Given the description of an element on the screen output the (x, y) to click on. 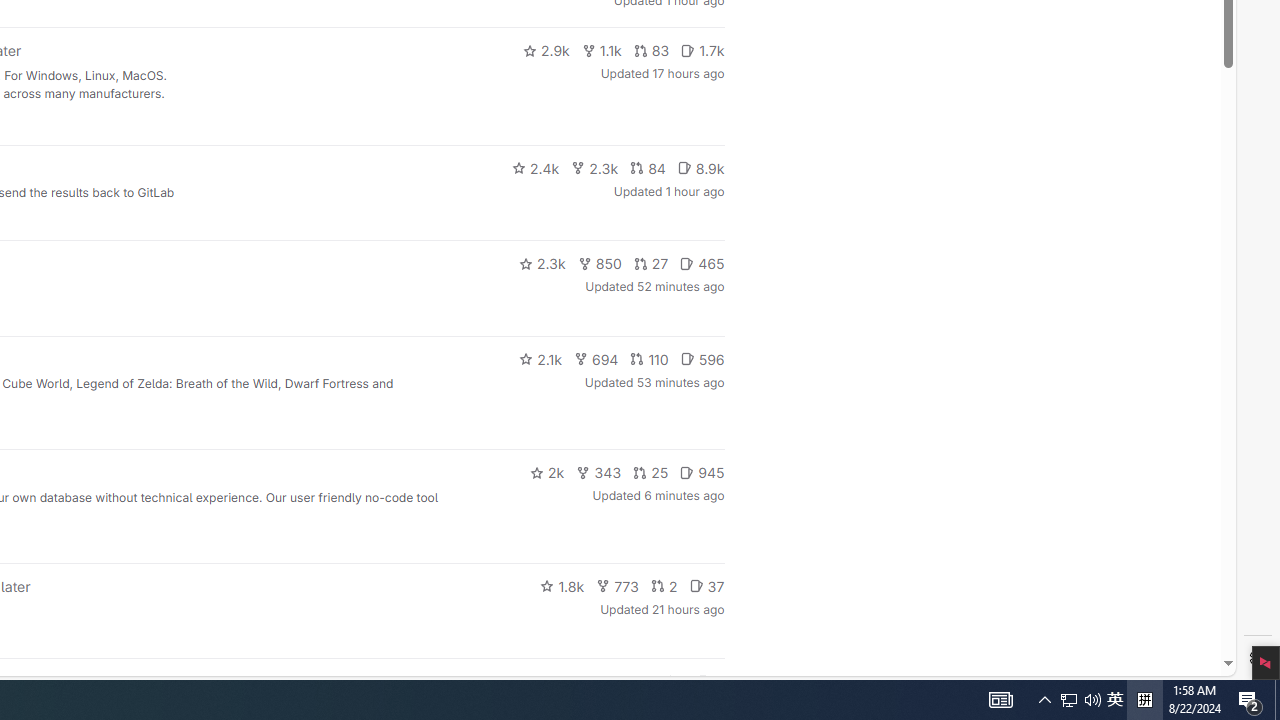
1 (673, 681)
850 (599, 263)
1.8k (562, 585)
2k (546, 472)
945 (701, 472)
1.1k (601, 50)
143 (629, 681)
596 (701, 358)
8.9k (700, 167)
83 (651, 50)
2.9k (545, 50)
343 (599, 472)
773 (618, 585)
